Given the description of an element on the screen output the (x, y) to click on. 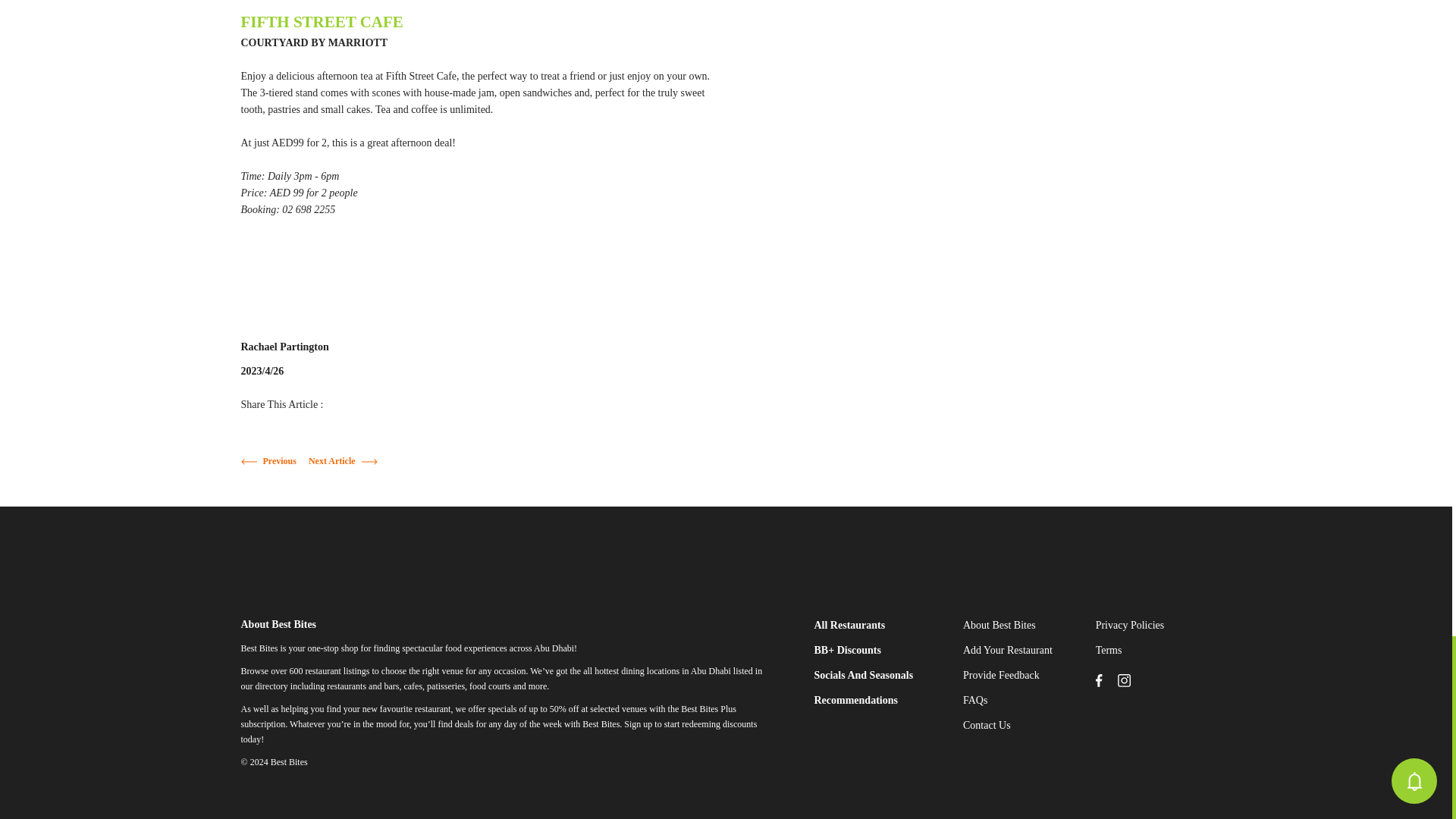
Socials And Seasonals (862, 674)
Contact Us (986, 725)
Provide Feedback (1000, 674)
About Best Bites (998, 624)
Previous (278, 460)
FAQs (974, 699)
Add Your Restaurant (1007, 650)
All Restaurants (849, 624)
Next Article (331, 460)
FIFTH STREET CAFE (322, 21)
